Given the description of an element on the screen output the (x, y) to click on. 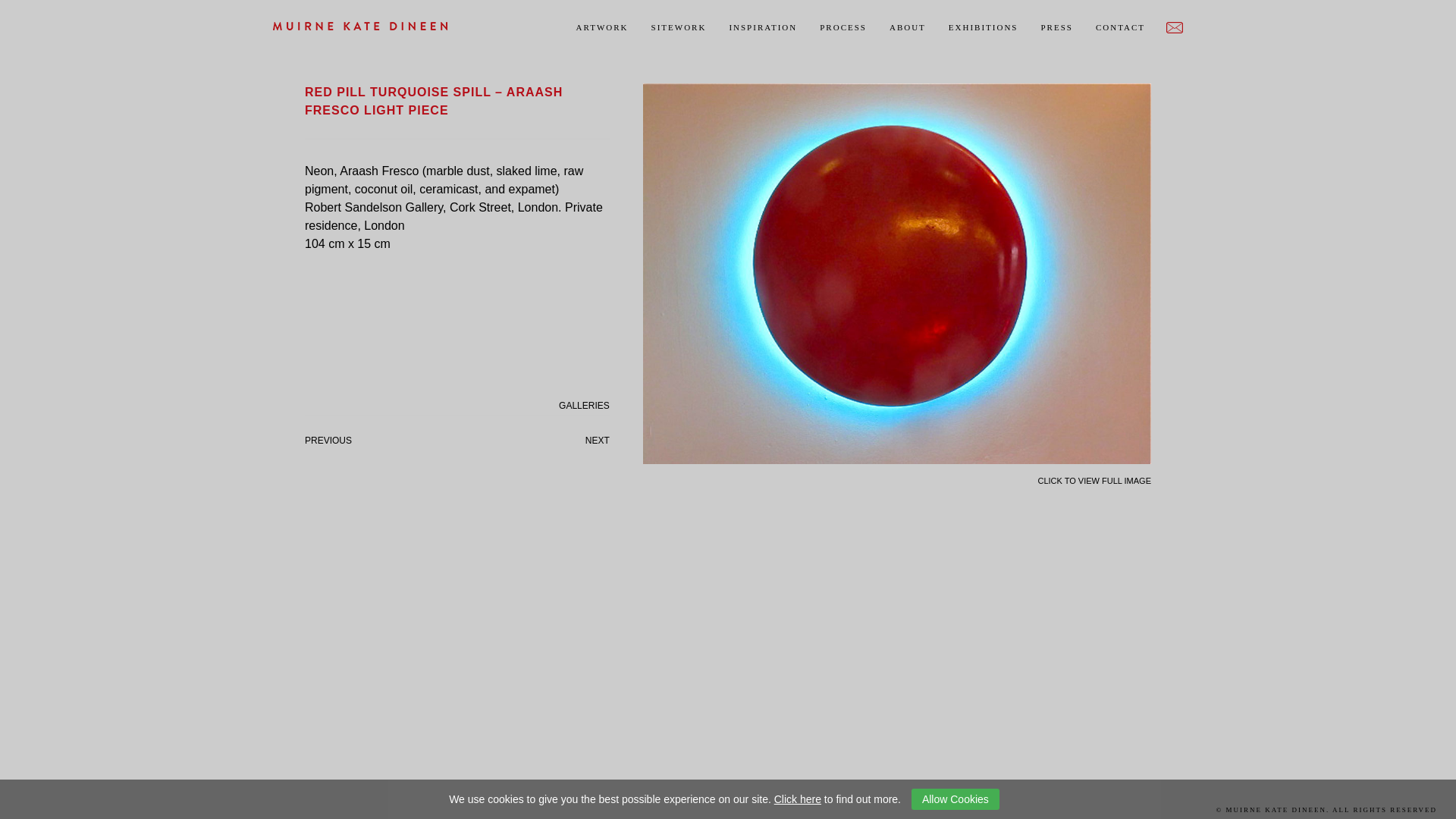
EXHIBITIONS (983, 27)
ARTWORK (602, 27)
PROCESS (842, 27)
INSPIRATION (762, 27)
ABOUT (907, 27)
NEXT (597, 439)
CONTACT (1133, 27)
PRESS (1056, 27)
Click here (797, 799)
SITEWORK (678, 27)
GALLERIES (584, 405)
PREVIOUS (328, 439)
Allow Cookies (954, 798)
